Given the description of an element on the screen output the (x, y) to click on. 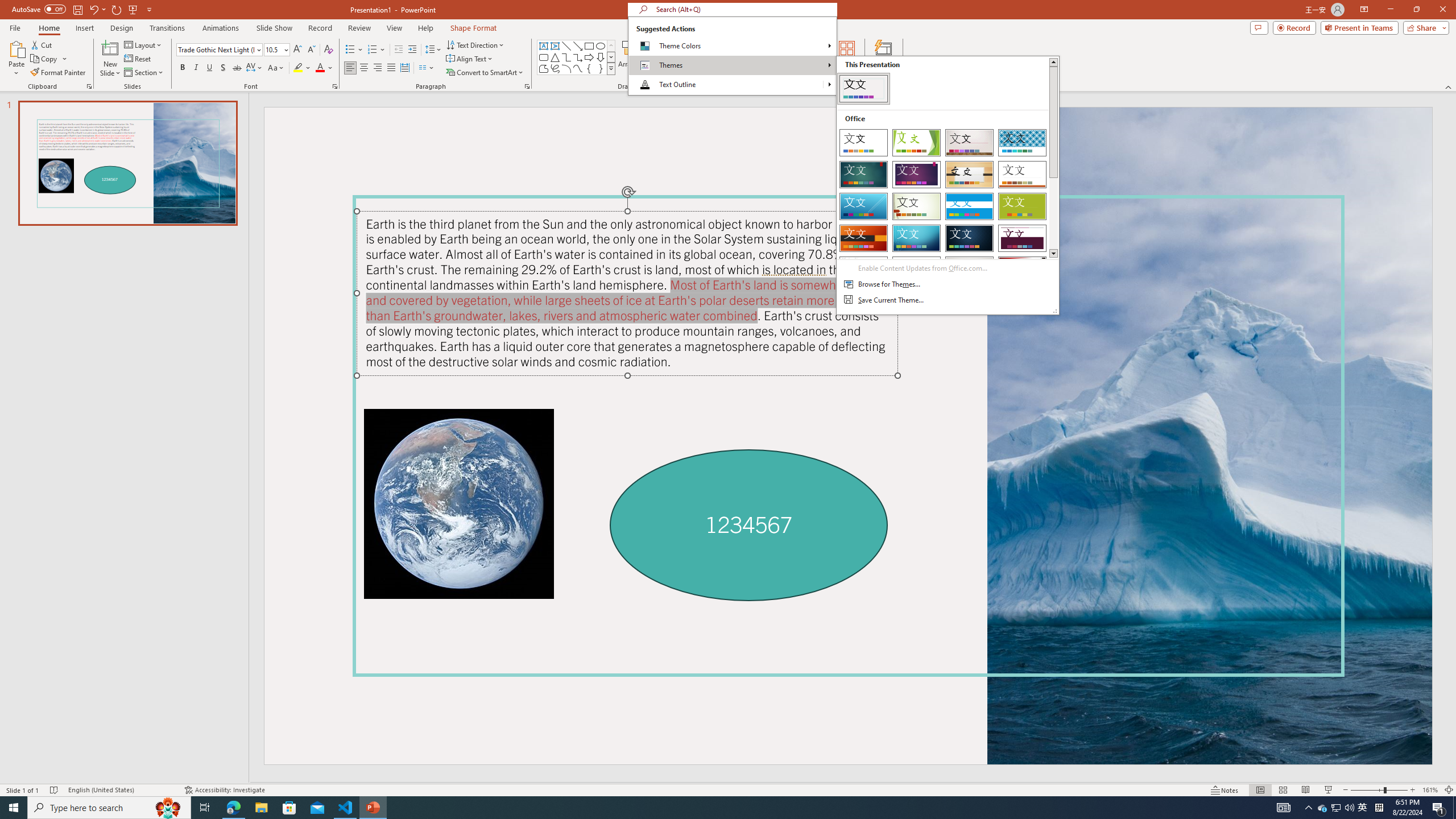
Text Outline (731, 84)
Format Painter (58, 72)
Clear Formatting (327, 49)
Align Right (377, 67)
Text Outline (829, 84)
Find... (756, 44)
Shape Fill Aqua, Accent 2 (675, 44)
Themes (947, 185)
